Given the description of an element on the screen output the (x, y) to click on. 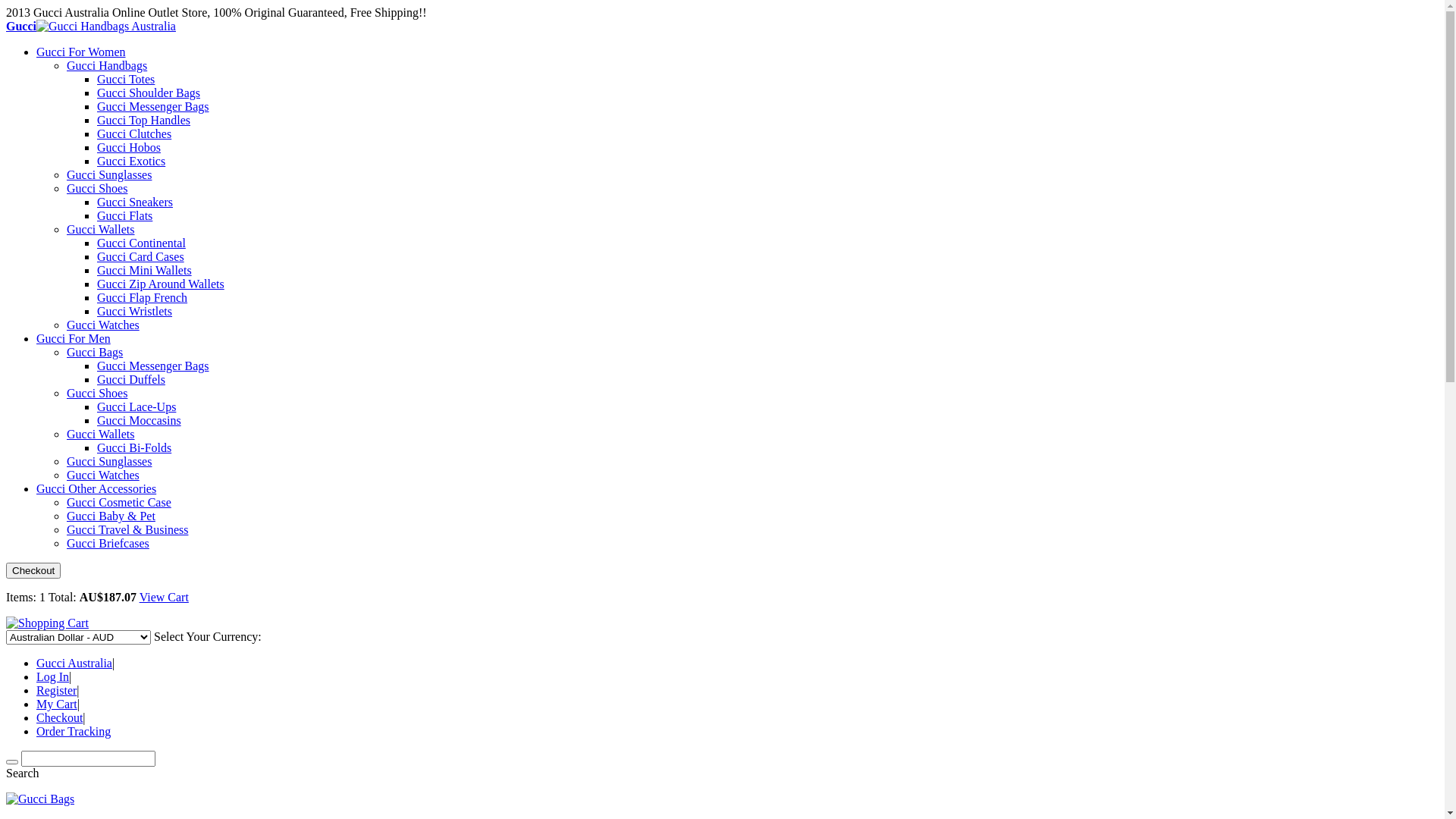
Gucci Briefcases Element type: text (107, 542)
Gucci Travel & Business Element type: text (127, 529)
Gucci Hobos Element type: text (128, 147)
Gucci Bags Element type: text (94, 351)
Gucci Flats Element type: text (124, 215)
Gucci Bi-Folds Element type: text (134, 447)
Gucci Sneakers Element type: text (134, 201)
Gucci Wallets Element type: text (100, 433)
Gucci Shoes Element type: text (96, 188)
Gucci Shoulder Bags Element type: text (148, 92)
Gucci Moccasins Element type: text (139, 420)
Gucci Lace-Ups Element type: text (136, 406)
Gucci Shoes Element type: text (96, 392)
Gucci Australia Element type: text (74, 662)
Gucci Sunglasses Element type: text (108, 174)
Gucci Bags Element type: hover (40, 799)
Gucci Clutches Element type: text (134, 133)
Gucci Sunglasses Element type: text (108, 461)
Gucci Zip Around Wallets Element type: text (160, 283)
Log In Element type: text (52, 676)
My Cart Element type: text (56, 703)
Gucci Wristlets Element type: text (134, 310)
Shopping Cart Element type: hover (47, 623)
Gucci Element type: text (90, 25)
Gucci Watches Element type: text (102, 324)
Gucci Handbags Element type: text (106, 65)
Register Element type: text (56, 690)
Gucci Messenger Bags Element type: text (153, 365)
Gucci For Men Element type: text (73, 338)
Gucci Continental Element type: text (141, 242)
Gucci Totes Element type: text (125, 78)
Gucci Cosmetic Case Element type: text (118, 501)
Checkout Element type: text (33, 570)
Gucci Other Accessories Element type: text (96, 488)
Search Element type: hover (12, 761)
Gucci Mini Wallets Element type: text (144, 269)
View Cart Element type: text (163, 596)
Gucci Baby & Pet Element type: text (110, 515)
Gucci Watches Element type: text (102, 474)
Gucci Top Handles Element type: text (143, 119)
Checkout Element type: text (59, 717)
Gucci Wallets Element type: text (100, 228)
Gucci For Women Element type: text (80, 51)
Gucci Flap French Element type: text (142, 297)
Gucci Duffels Element type: text (131, 379)
Gucci Exotics Element type: text (131, 160)
Order Tracking Element type: text (73, 730)
Gucci Card Cases Element type: text (140, 256)
Gucci Messenger Bags Element type: text (153, 106)
